Given the description of an element on the screen output the (x, y) to click on. 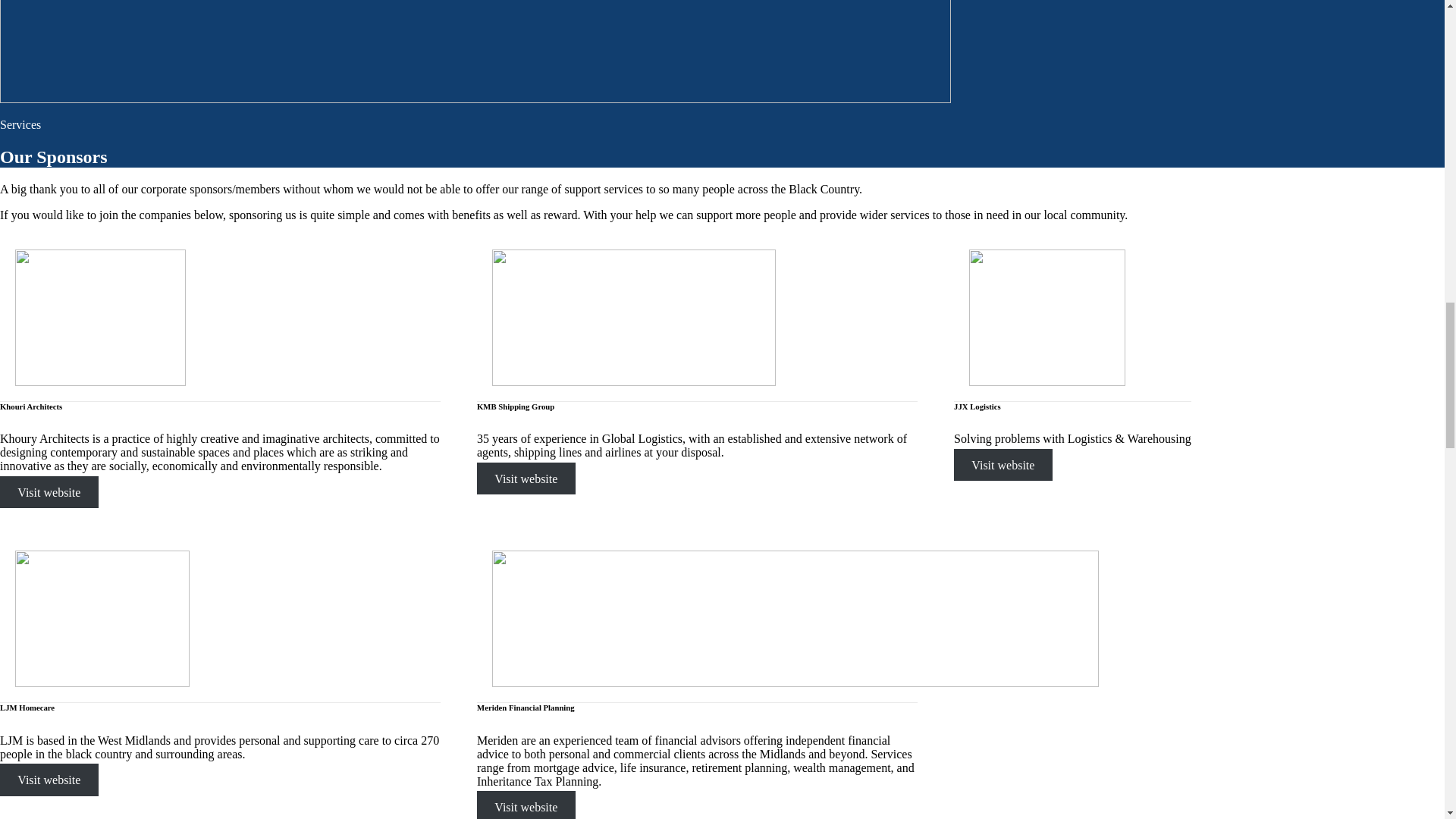
Visit website (1002, 464)
Visit website (49, 491)
Visit website (526, 805)
Visit website (526, 478)
Visit website (49, 779)
